Given the description of an element on the screen output the (x, y) to click on. 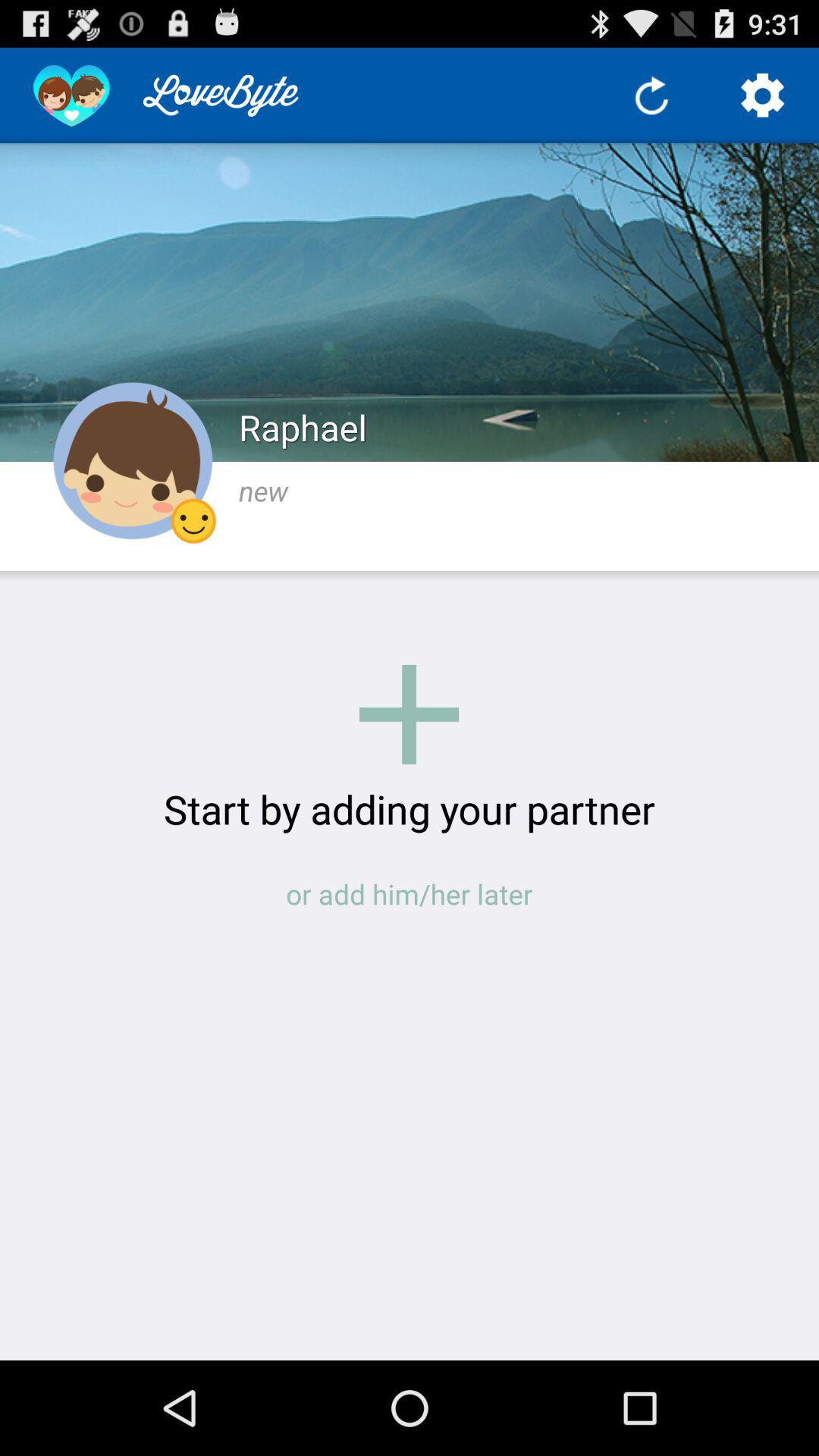
jump until the or add him icon (409, 893)
